Given the description of an element on the screen output the (x, y) to click on. 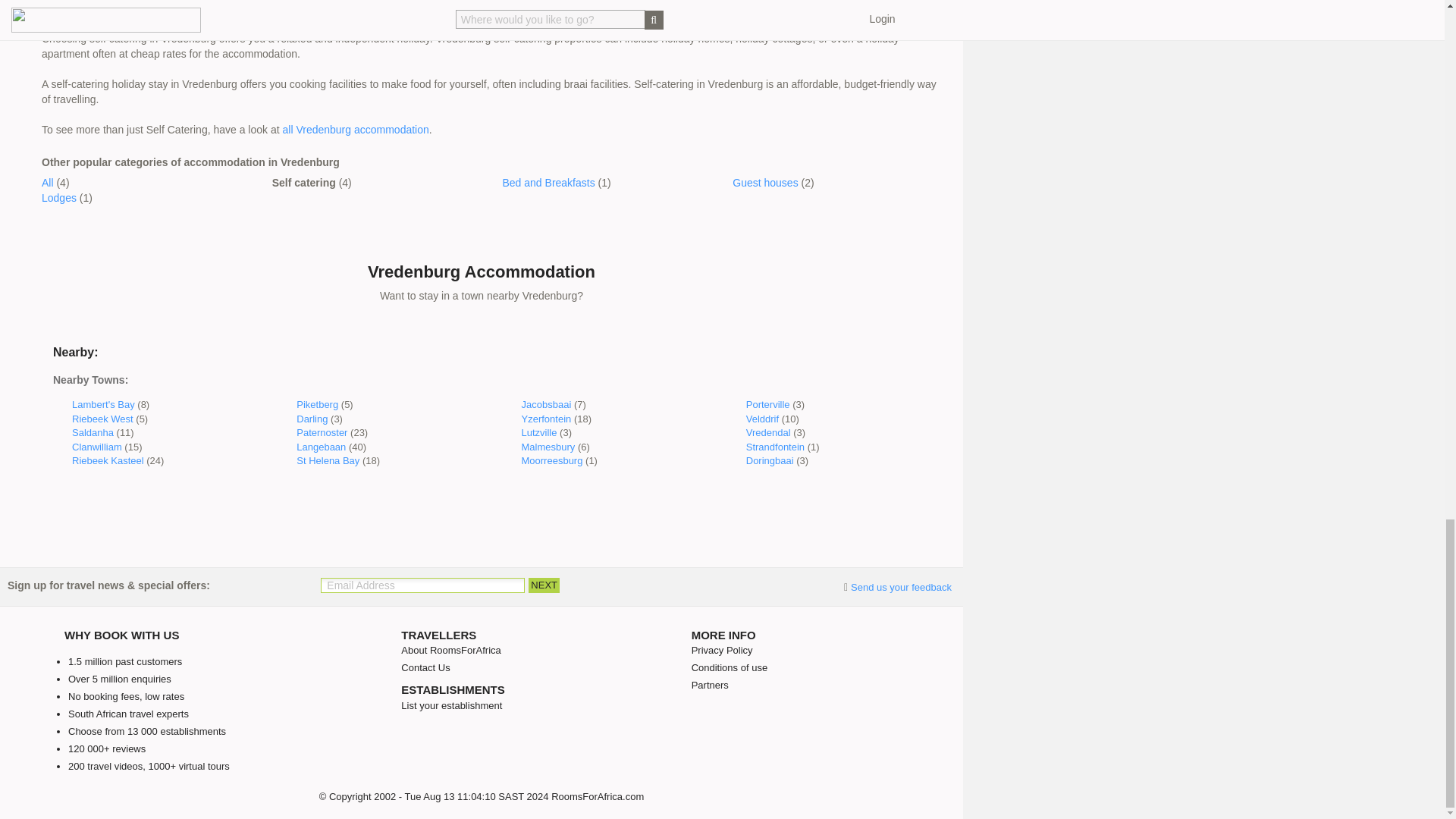
Next (543, 585)
Email Address (422, 585)
Email Address (422, 585)
